Given the description of an element on the screen output the (x, y) to click on. 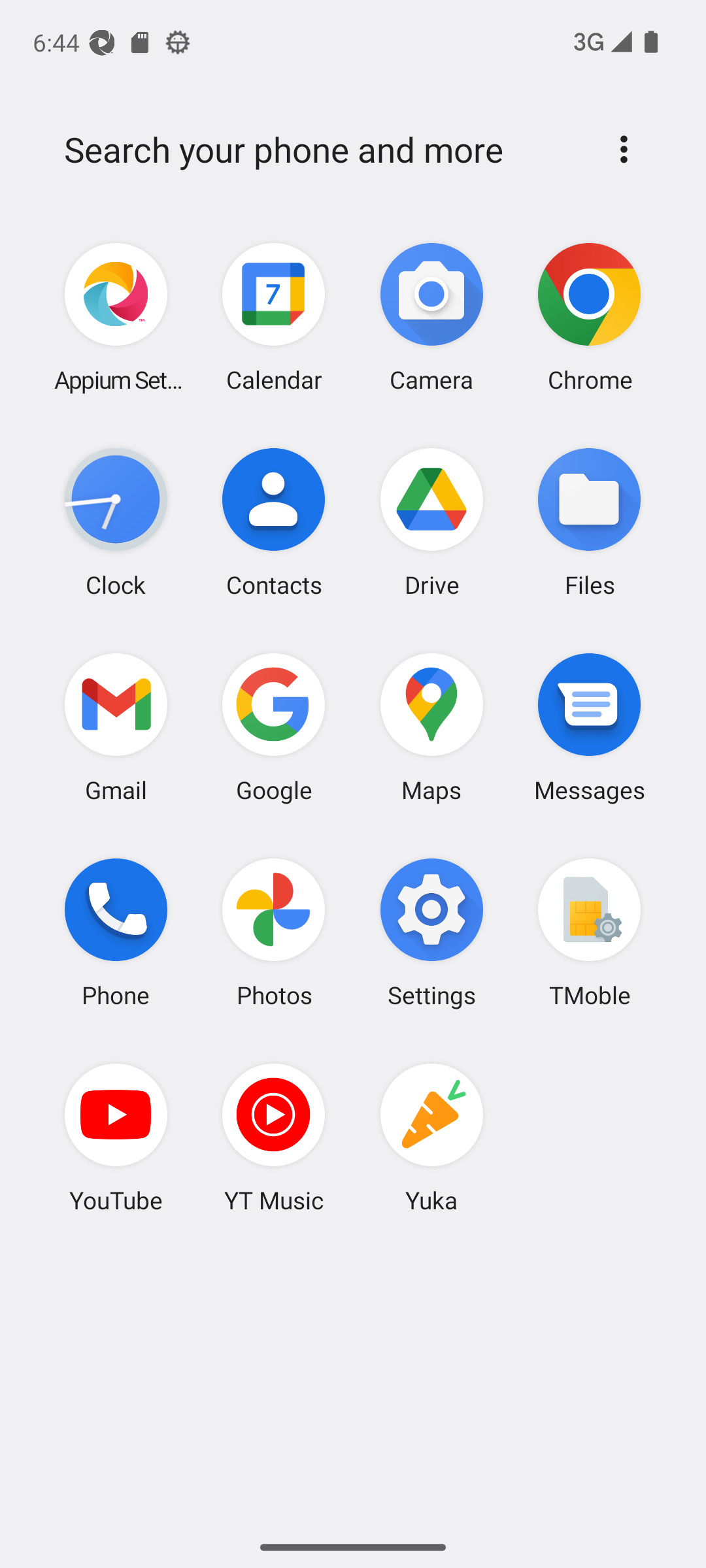
Search your phone and more (321, 149)
Preferences (623, 149)
Appium Settings (115, 317)
Calendar (273, 317)
Camera (431, 317)
Chrome (589, 317)
Clock (115, 522)
Contacts (273, 522)
Drive (431, 522)
Files (589, 522)
Gmail (115, 726)
Google (273, 726)
Maps (431, 726)
Messages (589, 726)
Phone (115, 931)
Photos (273, 931)
Settings (431, 931)
TMoble (589, 931)
YouTube (115, 1137)
YT Music (273, 1137)
Yuka (431, 1137)
